Given the description of an element on the screen output the (x, y) to click on. 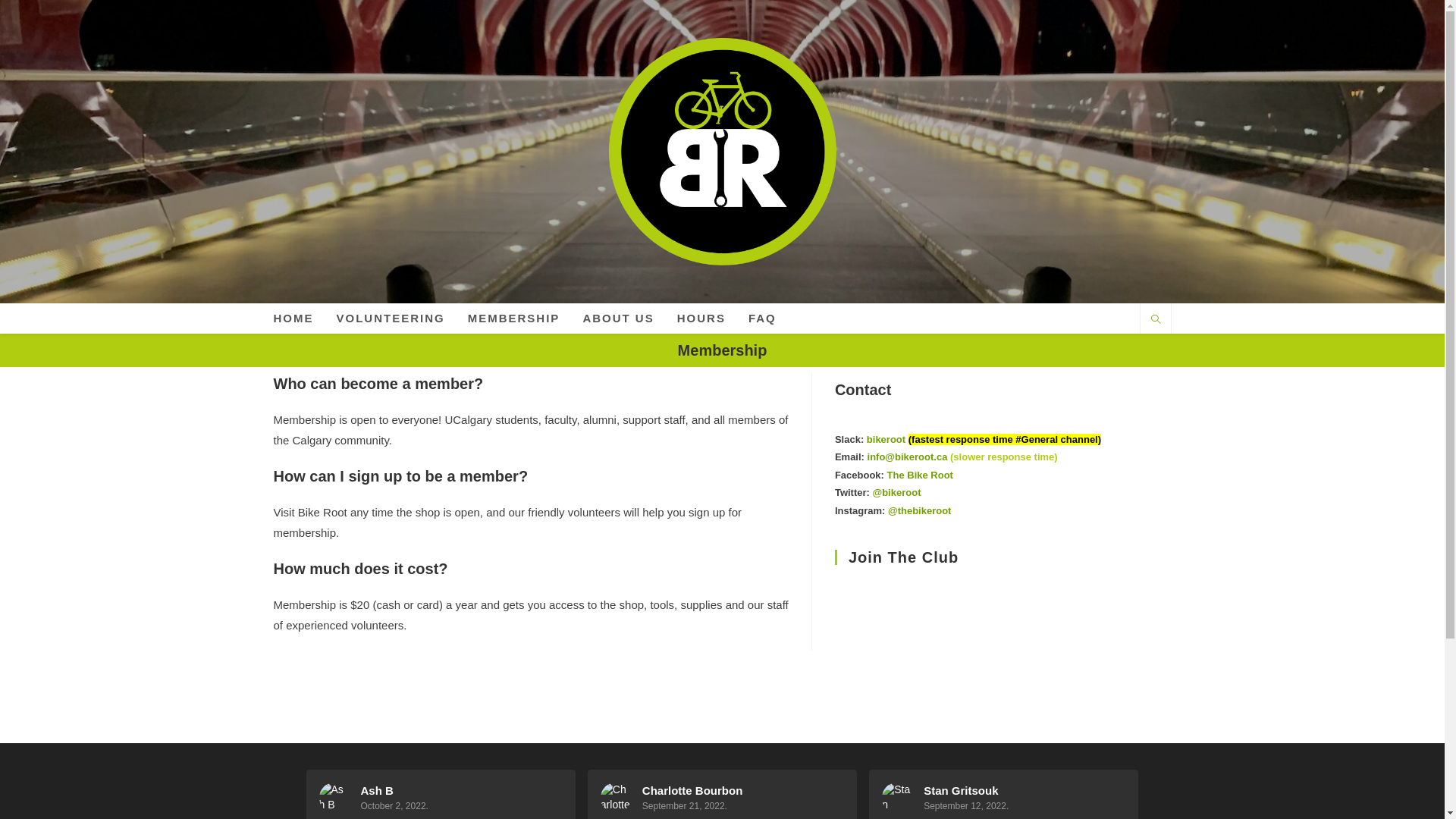
@thebikeroot Element type: text (919, 510)
bikeroot Element type: text (885, 439)
@bikeroot Element type: text (896, 492)
MEMBERSHIP Element type: text (513, 318)
HOURS Element type: text (701, 318)
HOME Element type: text (293, 318)
ABOUT US Element type: text (618, 318)
info@bikeroot.ca Element type: text (907, 456)
FAQ Element type: text (762, 318)
VOLUNTEERING Element type: text (389, 318)
The Bike Root Element type: text (920, 474)
